Given the description of an element on the screen output the (x, y) to click on. 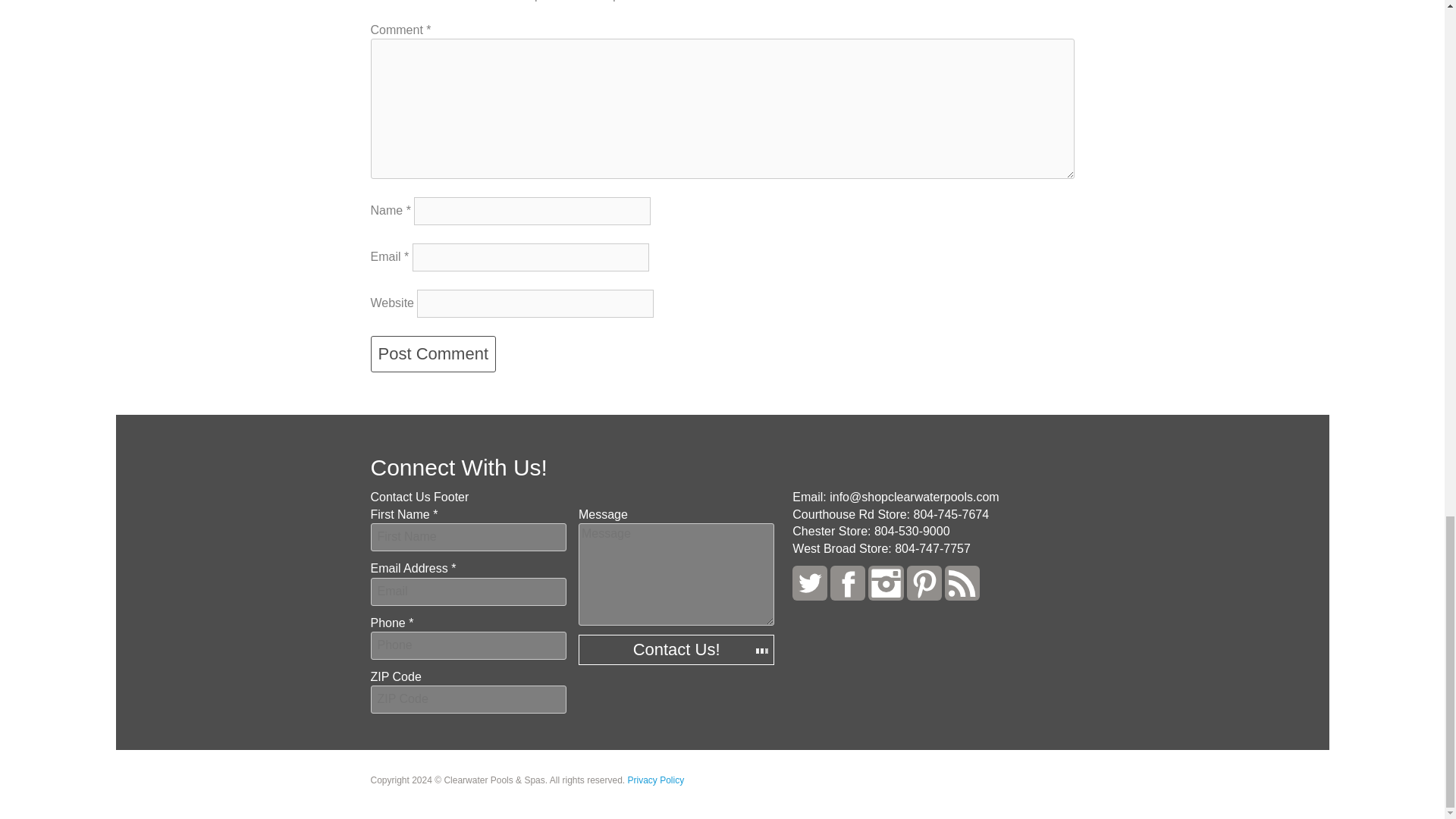
Post Comment (432, 353)
Post Comment (432, 353)
Contact Us! (676, 649)
Contact Us! (676, 649)
